Given the description of an element on the screen output the (x, y) to click on. 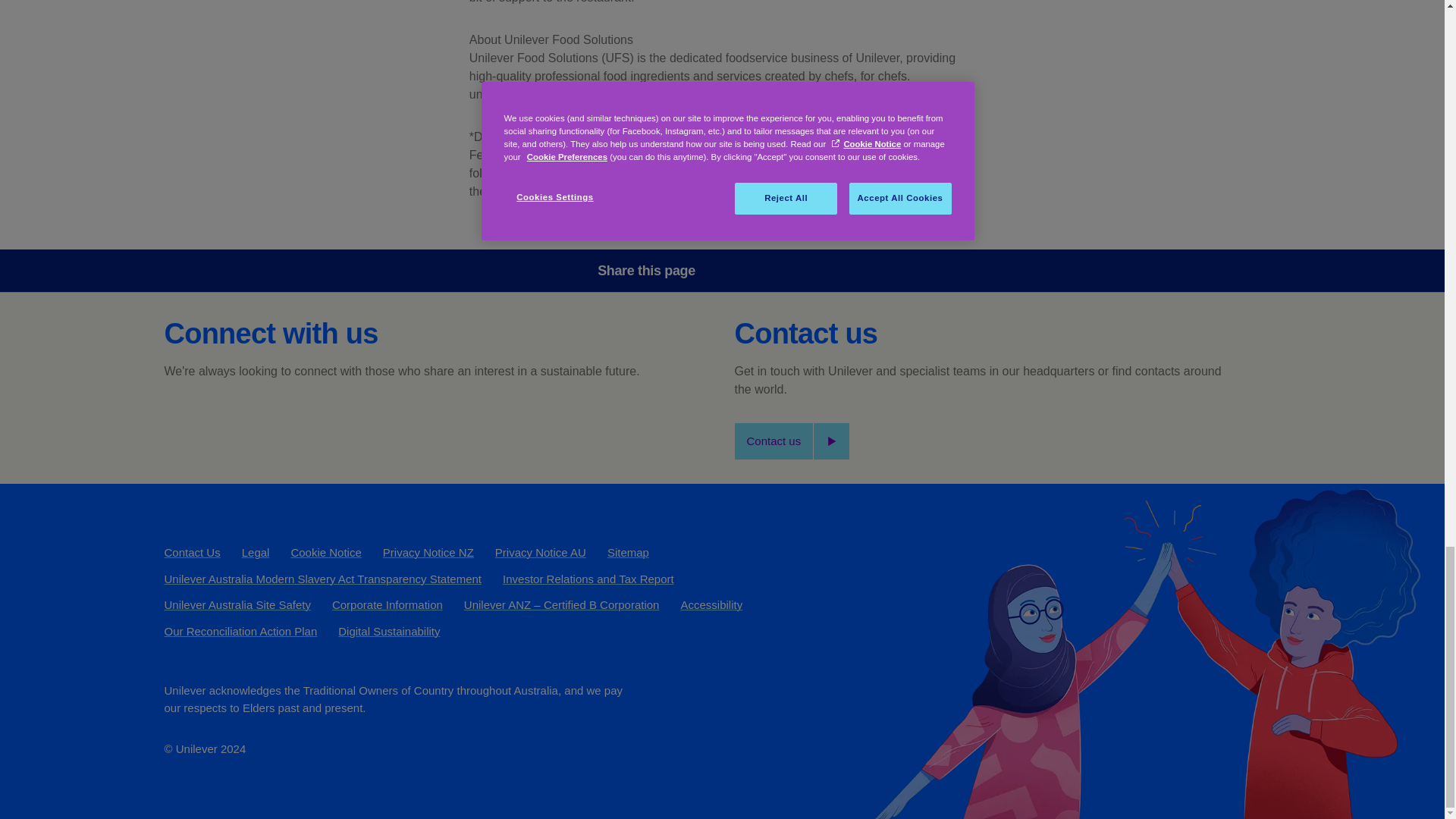
Share this page on Facebook (740, 270)
Share this page on E-mail (868, 270)
Share this page on Linked In (825, 270)
Connect with us on LinkedIn (263, 422)
see (656, 191)
Connect with us on Facebook (181, 422)
Connect with us on X (222, 422)
Share this page on X (782, 270)
Connect with us on Instagram (303, 422)
